Given the description of an element on the screen output the (x, y) to click on. 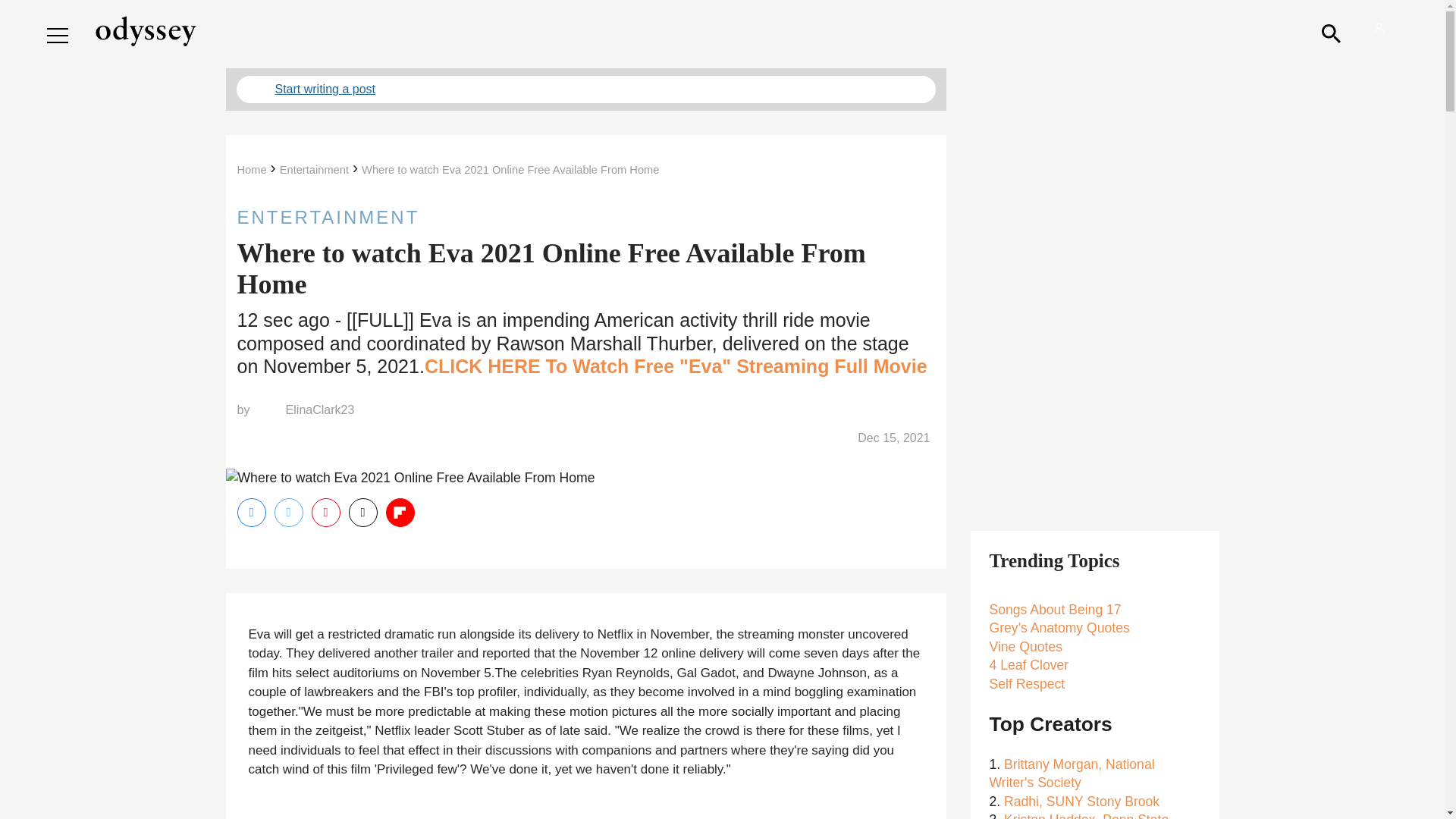
Start writing a post (585, 89)
Entertainment (314, 169)
ENTERTAINMENT (584, 217)
Home (250, 169)
Where to watch Eva 2021 Online Free Available From Home (510, 169)
CLICK HERE To Watch Free "Eva" Streaming Full Movie (676, 365)
